Given the description of an element on the screen output the (x, y) to click on. 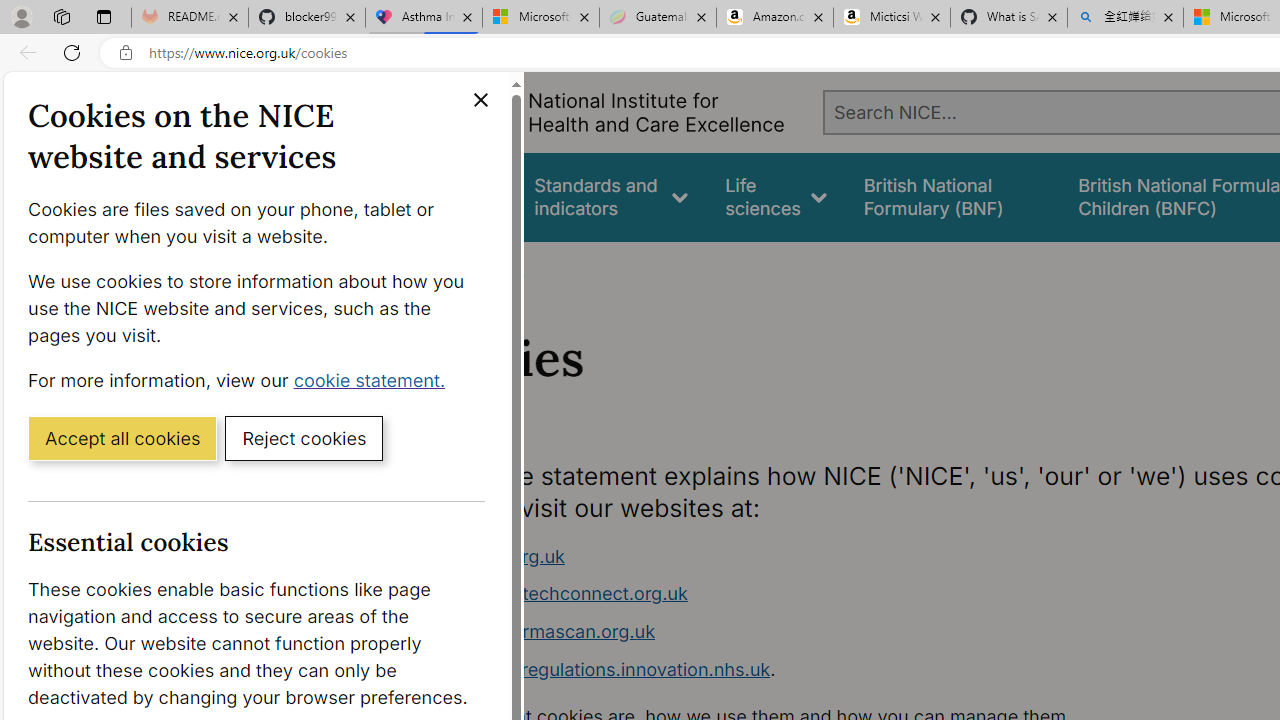
Guidance (458, 196)
About (498, 268)
Close cookie banner (480, 99)
www.healthtechconnect.org.uk (796, 594)
www.ukpharmascan.org.uk (538, 631)
Asthma Inhalers: Names and Types (424, 17)
About (498, 268)
www.nice.org.uk (796, 556)
www.digitalregulations.innovation.nhs.uk. (796, 669)
false (952, 196)
Home> (433, 268)
